Given the description of an element on the screen output the (x, y) to click on. 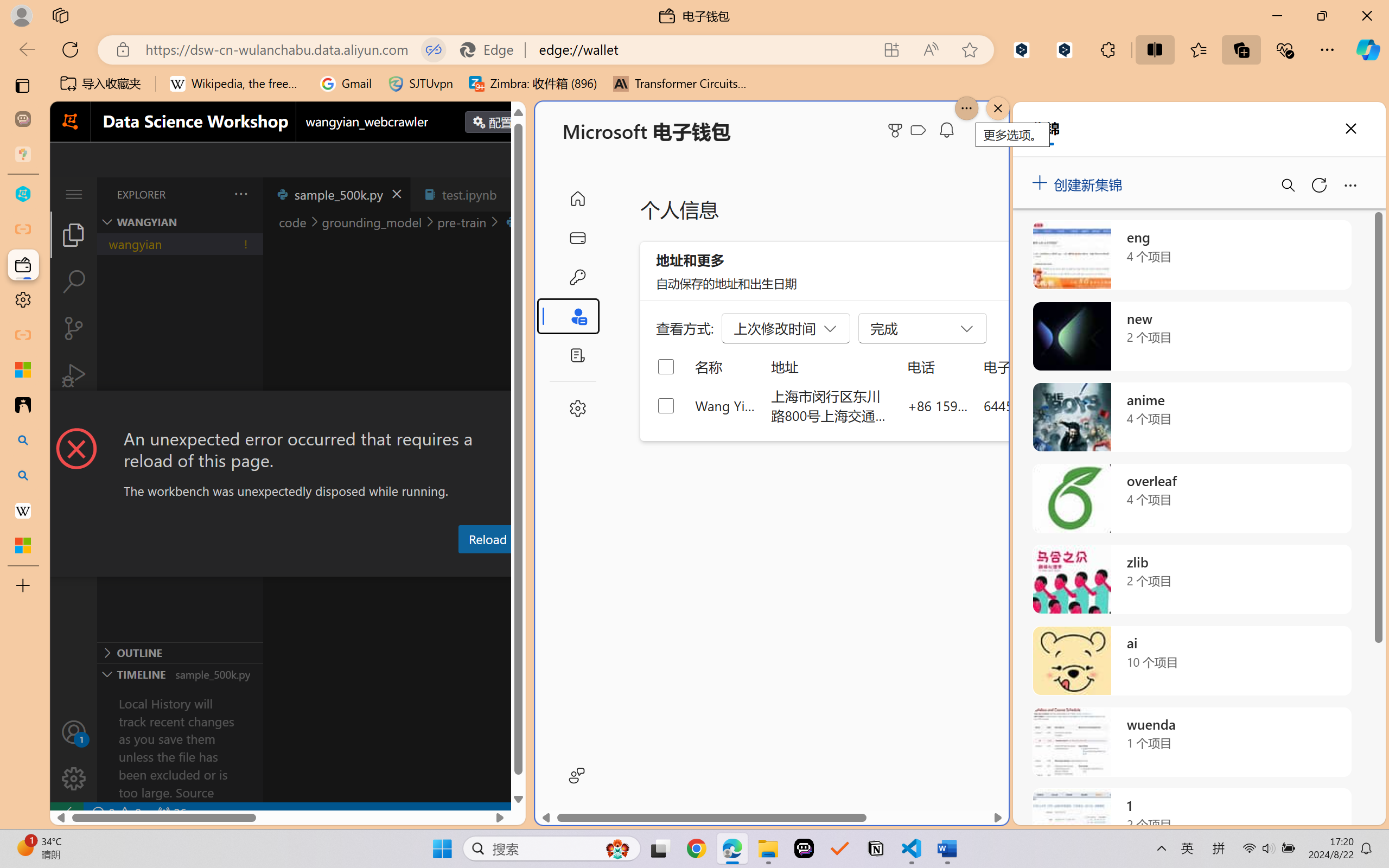
Problems (Ctrl+Shift+M) (308, 565)
Run and Debug (Ctrl+Shift+D) (73, 375)
